Given the description of an element on the screen output the (x, y) to click on. 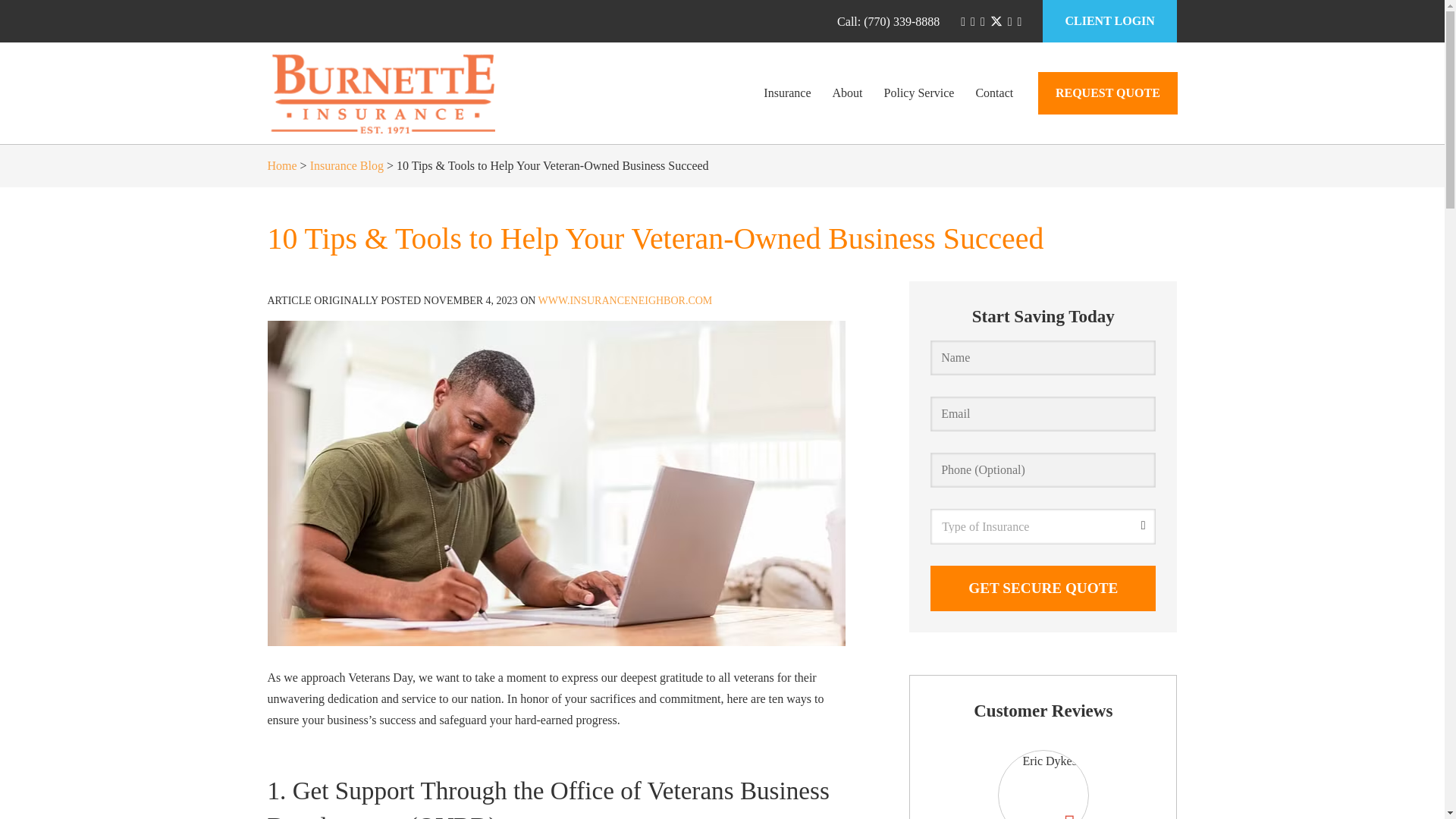
Get Secure Quote (1043, 587)
logo (380, 93)
Home Page (411, 93)
About (847, 93)
X (996, 21)
Insurance (786, 93)
